Given the description of an element on the screen output the (x, y) to click on. 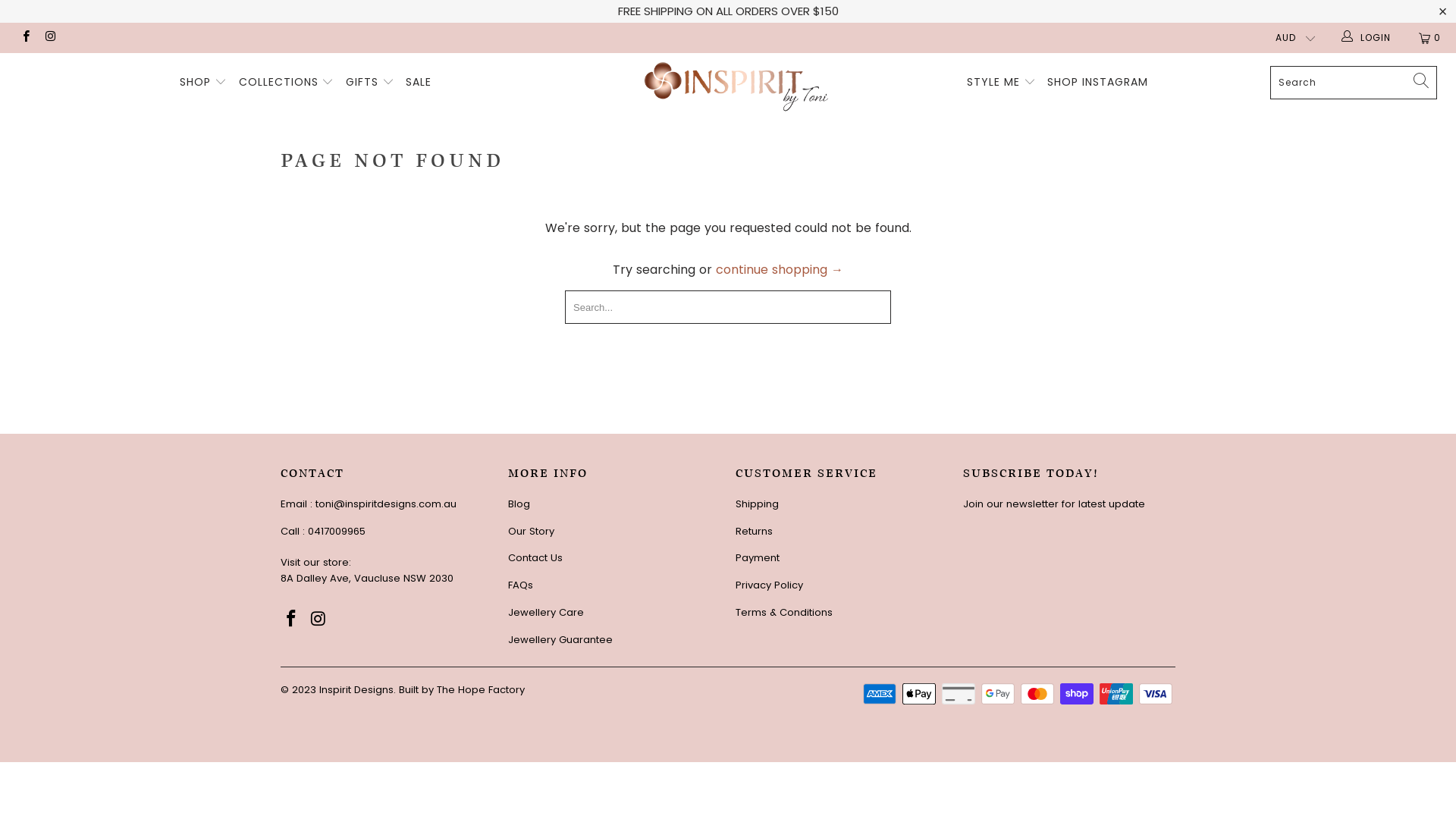
SHOP INSTAGRAM Element type: text (1097, 82)
Inspirit Designs Element type: hover (735, 86)
Inspirit Designs Element type: text (356, 689)
GIFTS Element type: text (369, 82)
SALE Element type: text (418, 82)
0417009965 Element type: text (336, 530)
toni@inspiritdesigns.com.au Element type: text (385, 503)
COLLECTIONS Element type: text (286, 82)
Terms & Conditions Element type: text (783, 612)
SHOP Element type: text (202, 82)
Returns Element type: text (753, 530)
Privacy Policy Element type: text (769, 584)
Payment Element type: text (757, 557)
Jewellery Care Element type: text (545, 612)
Jewellery Guarantee Element type: text (560, 639)
Inspirit Designs on Facebook Element type: hover (24, 37)
Contact Us Element type: text (535, 557)
Inspirit Designs on Instagram Element type: hover (49, 37)
LOGIN Element type: text (1366, 37)
STYLE ME Element type: text (1000, 82)
Inspirit Designs on Facebook Element type: hover (291, 619)
Inspirit Designs on Instagram Element type: hover (318, 619)
FAQs Element type: text (520, 584)
Our Story Element type: text (531, 530)
Blog Element type: text (519, 503)
Shipping Element type: text (756, 503)
